Given the description of an element on the screen output the (x, y) to click on. 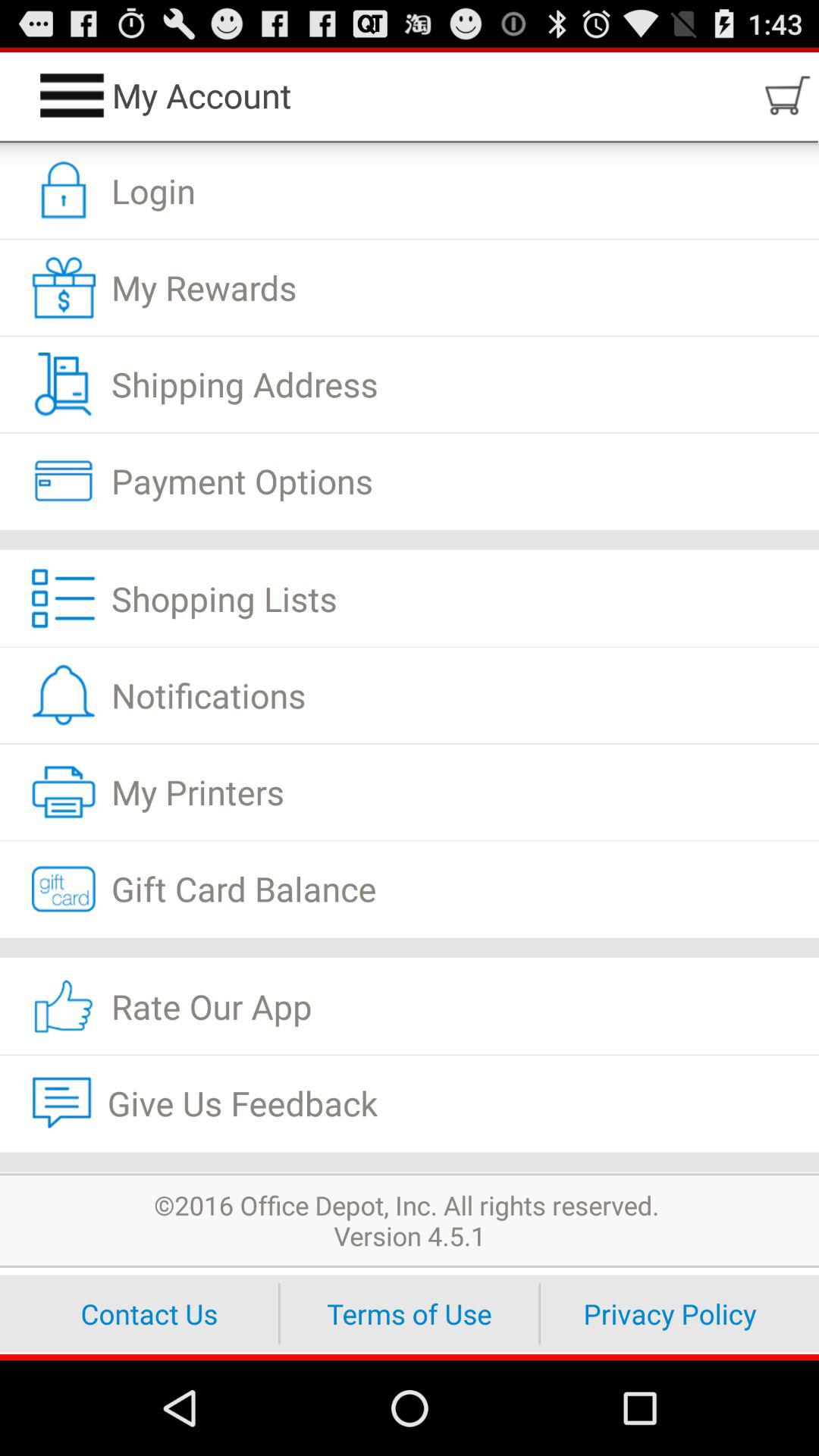
turn off the login icon (409, 190)
